Given the description of an element on the screen output the (x, y) to click on. 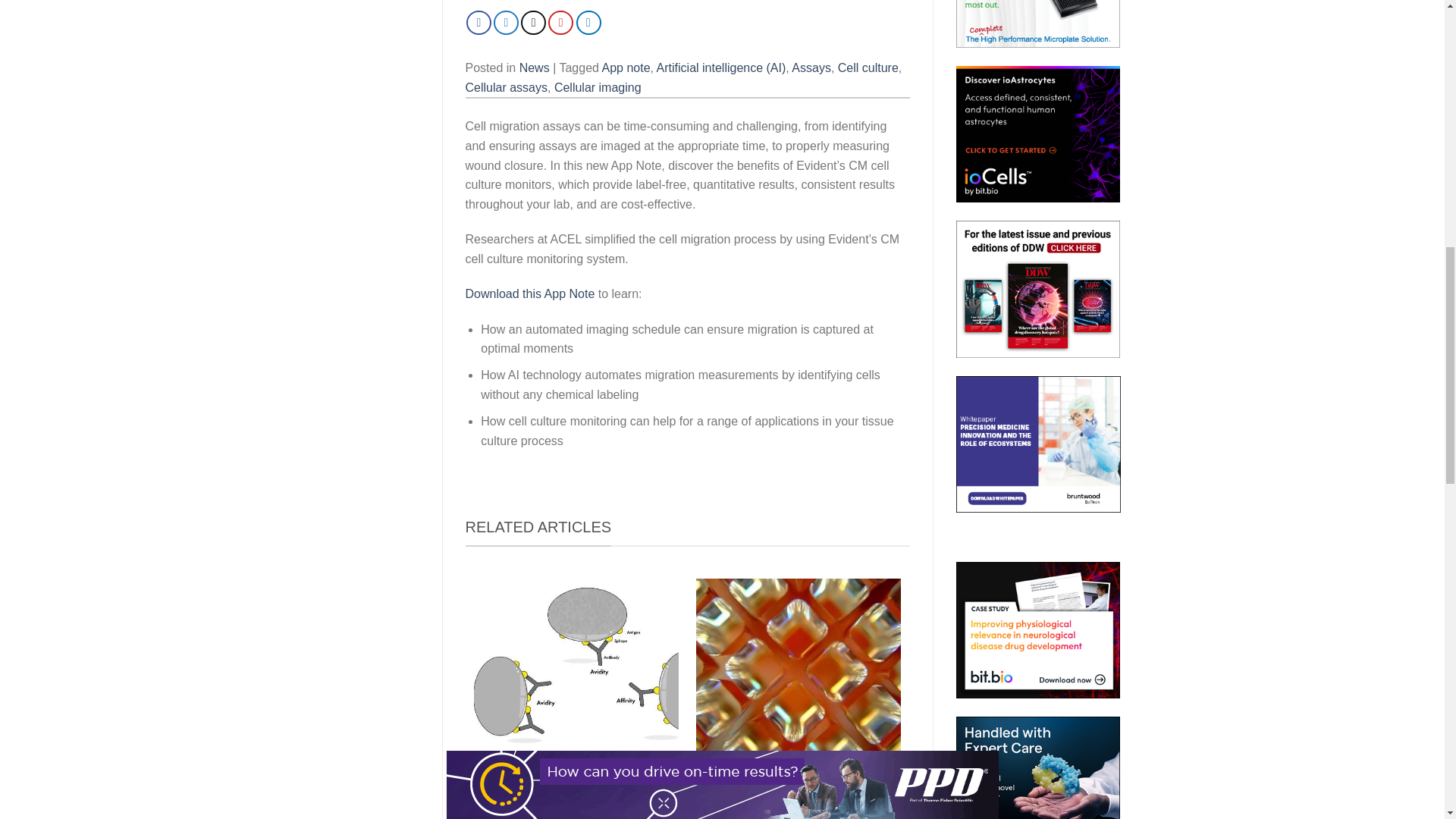
Click to get started (1038, 134)
Download Whitepaper (1038, 444)
Download Case Study (1038, 629)
Download Whitepaper (1038, 767)
Learn more (1038, 23)
Click here to read the magazine (1038, 288)
